Given the description of an element on the screen output the (x, y) to click on. 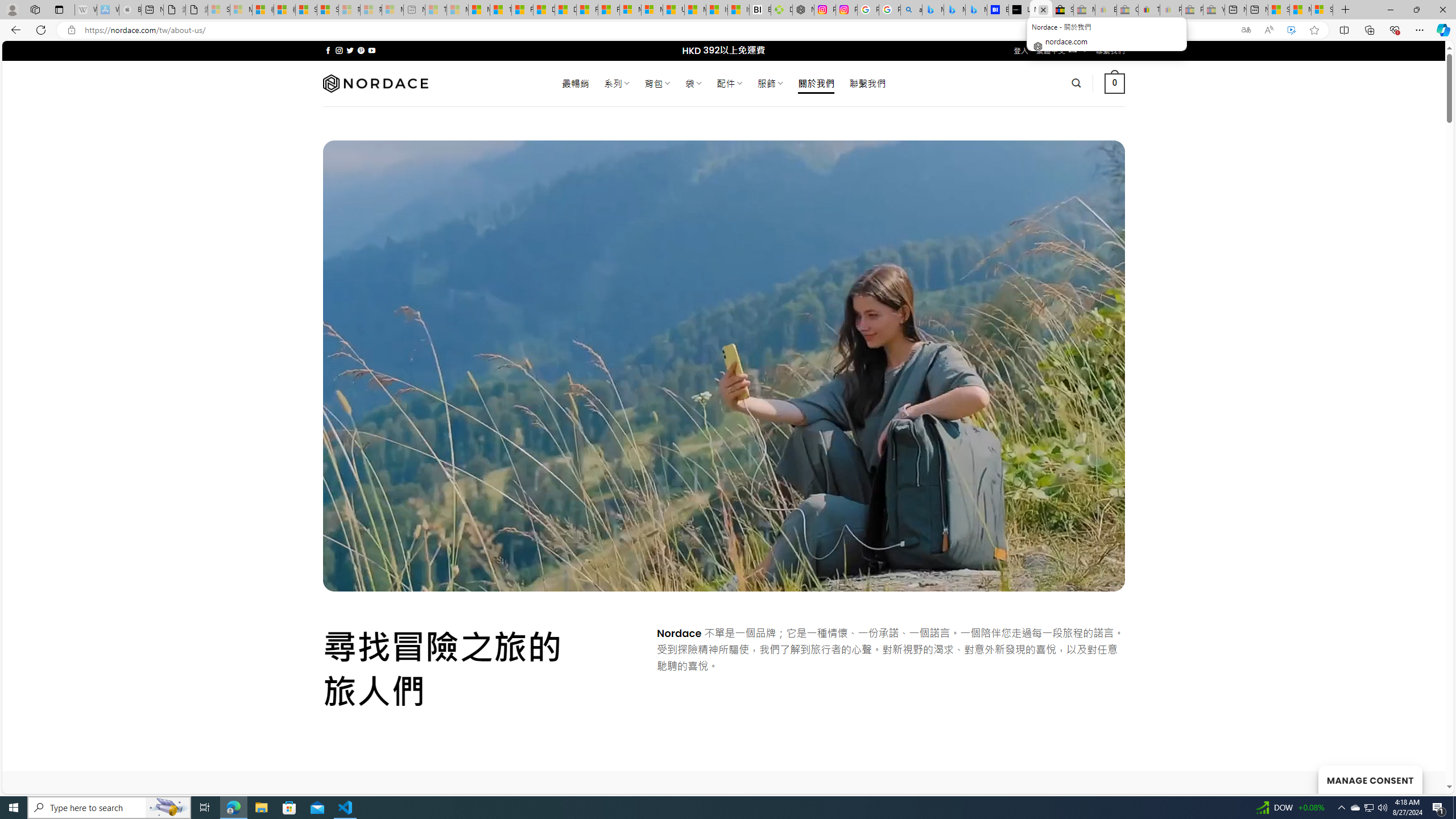
Follow on Facebook (327, 50)
Marine life - MSN - Sleeping (457, 9)
Drinking tea every day is proven to delay biological aging (565, 9)
alabama high school quarterback dies - Search (911, 9)
Buy iPad - Apple - Sleeping (130, 9)
